Given the description of an element on the screen output the (x, y) to click on. 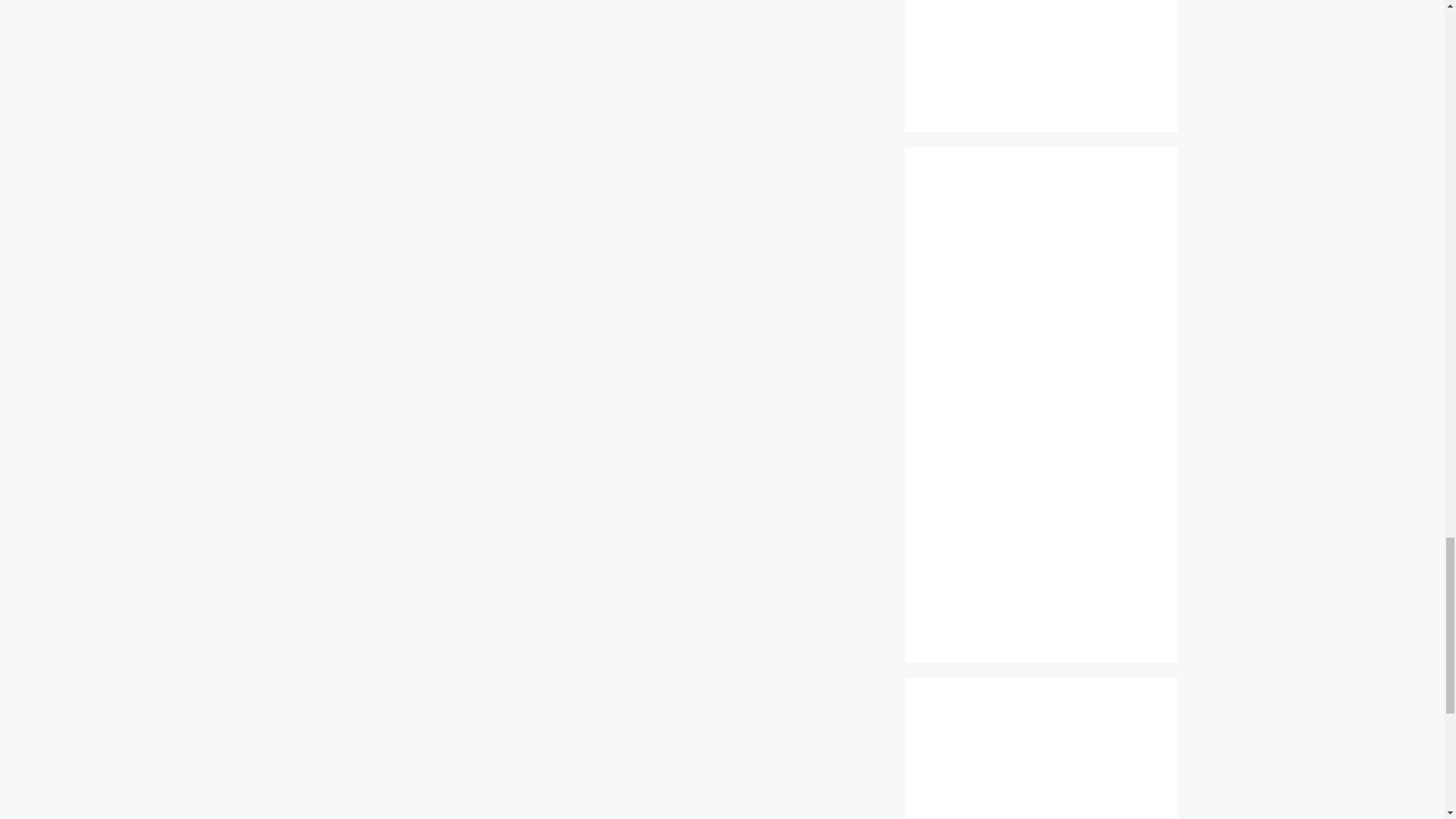
Advertisement (1040, 50)
Advertisement (1040, 763)
